Given the description of an element on the screen output the (x, y) to click on. 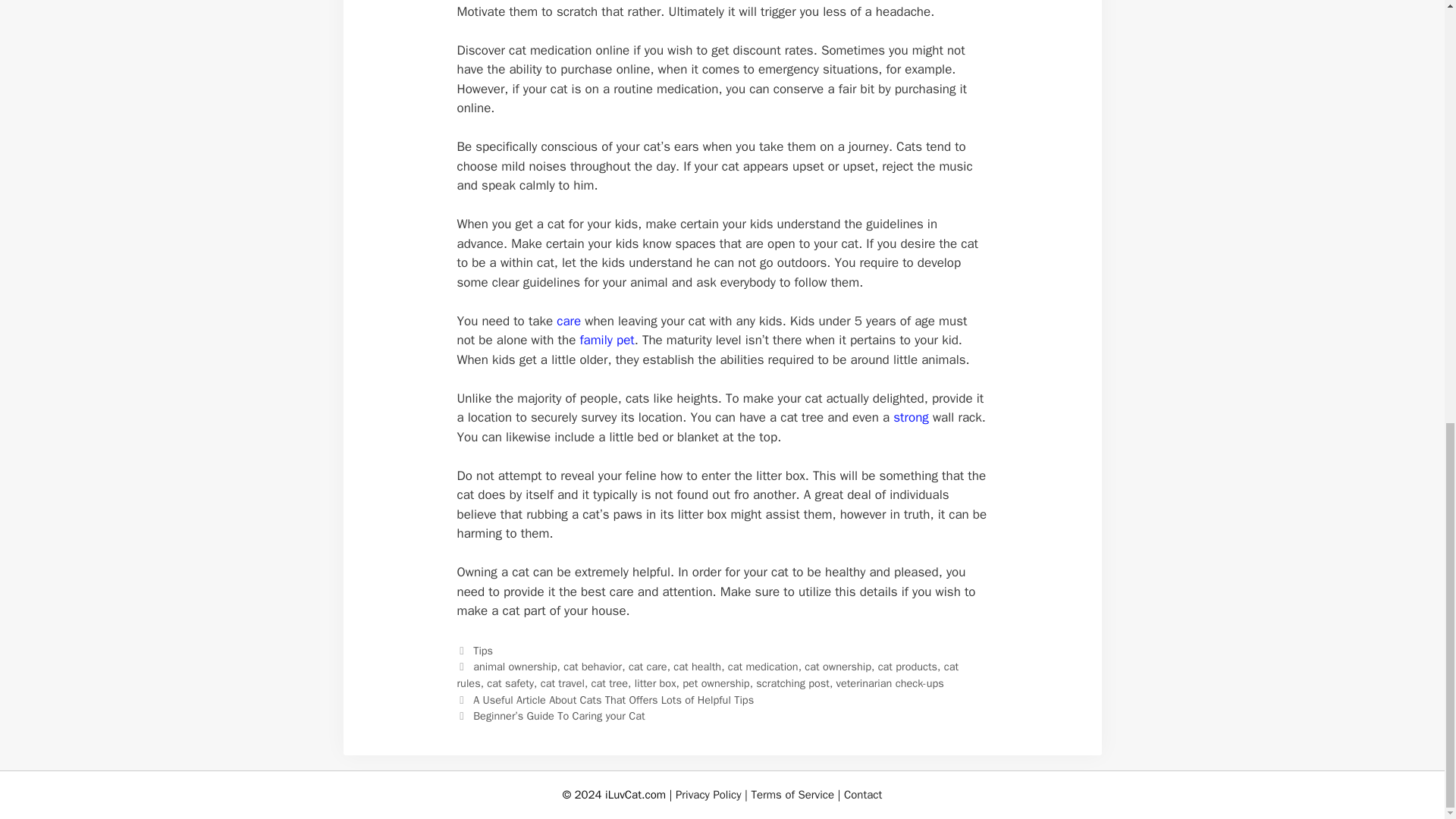
litter box (655, 683)
cat rules (707, 675)
cat tree (609, 683)
strong (910, 417)
pet ownership (715, 683)
family pet (606, 340)
cat behavior (592, 666)
scratching post (792, 683)
cat products (907, 666)
cat health (696, 666)
